Given the description of an element on the screen output the (x, y) to click on. 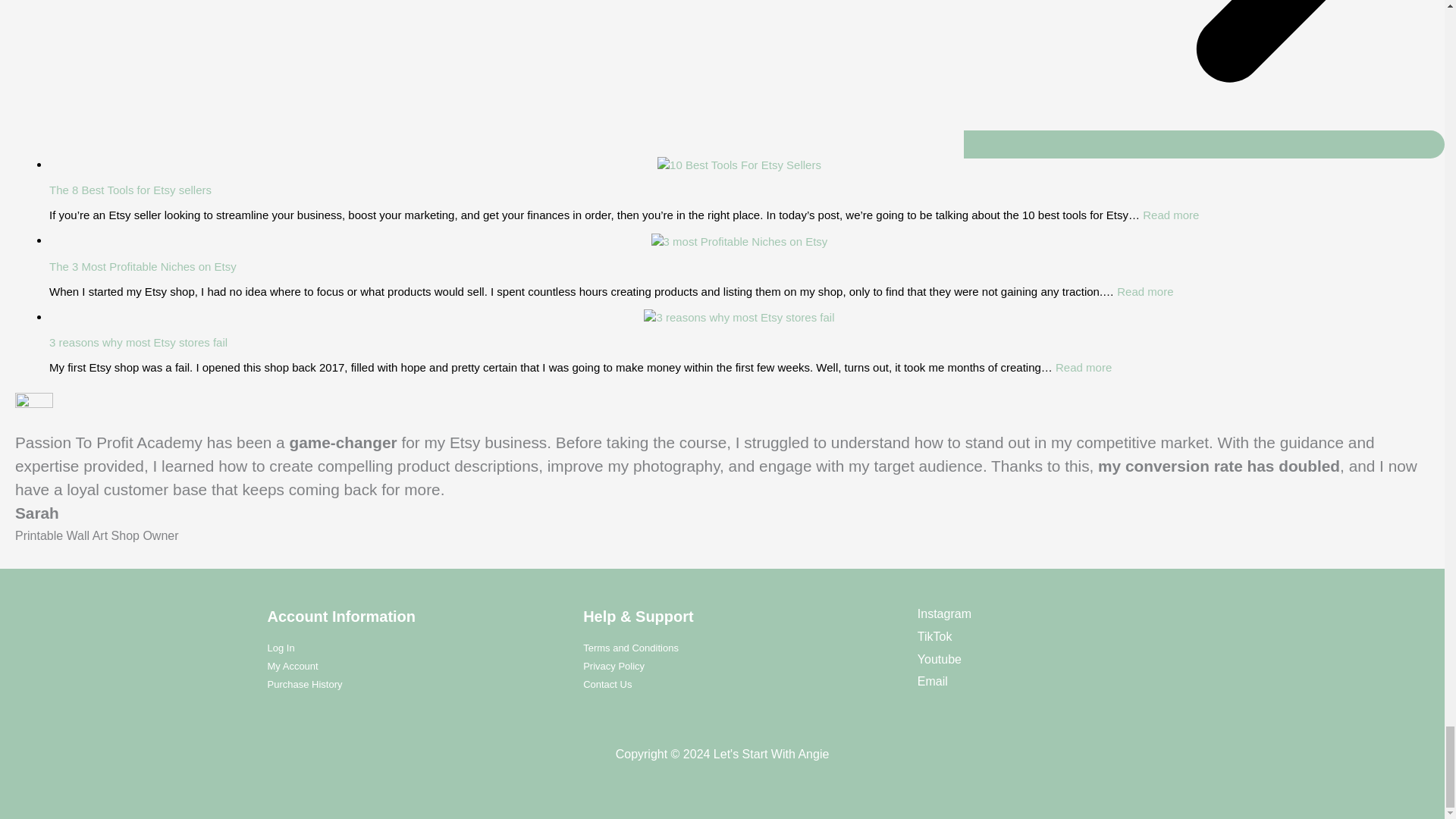
My Account (291, 665)
Terms and Conditions (1170, 214)
Visit the blog (630, 647)
3 reasons why most Etsy stores fail (1203, 79)
The 8 Best Tools for Etsy sellers (1144, 291)
Log In (138, 341)
The 3 Most Profitable Niches on Etsy (130, 189)
Purchase History (280, 647)
